Given the description of an element on the screen output the (x, y) to click on. 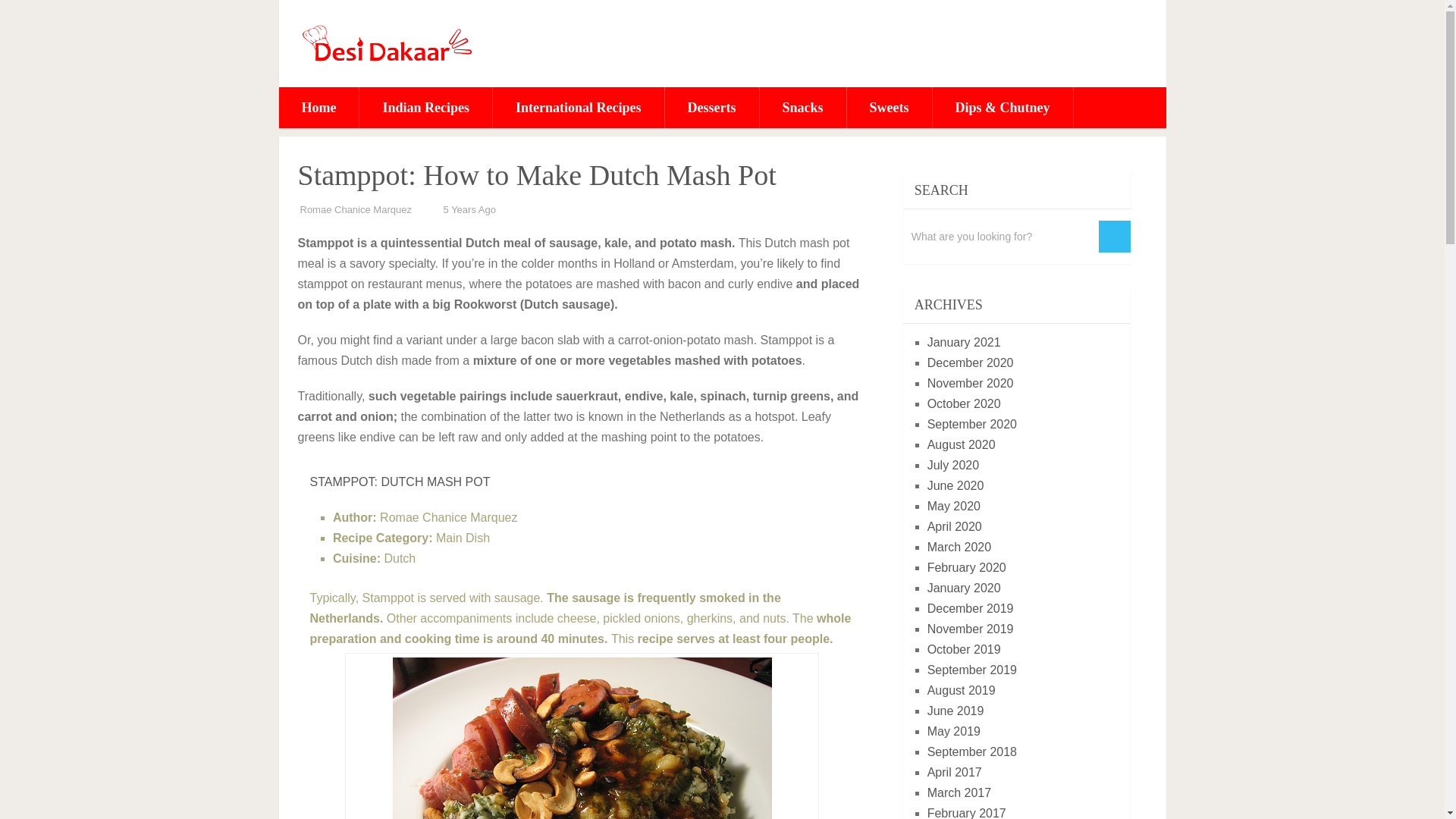
September 2020 (971, 423)
Home (319, 106)
International Recipes (578, 106)
Desserts (711, 106)
January 2021 (964, 341)
October 2020 (964, 403)
Indian Recipes (425, 106)
November 2020 (970, 382)
Romae Chanice Marquez (355, 209)
Snacks (802, 106)
Posts by Romae Chanice Marquez (355, 209)
Sweets (889, 106)
December 2020 (970, 362)
